Given the description of an element on the screen output the (x, y) to click on. 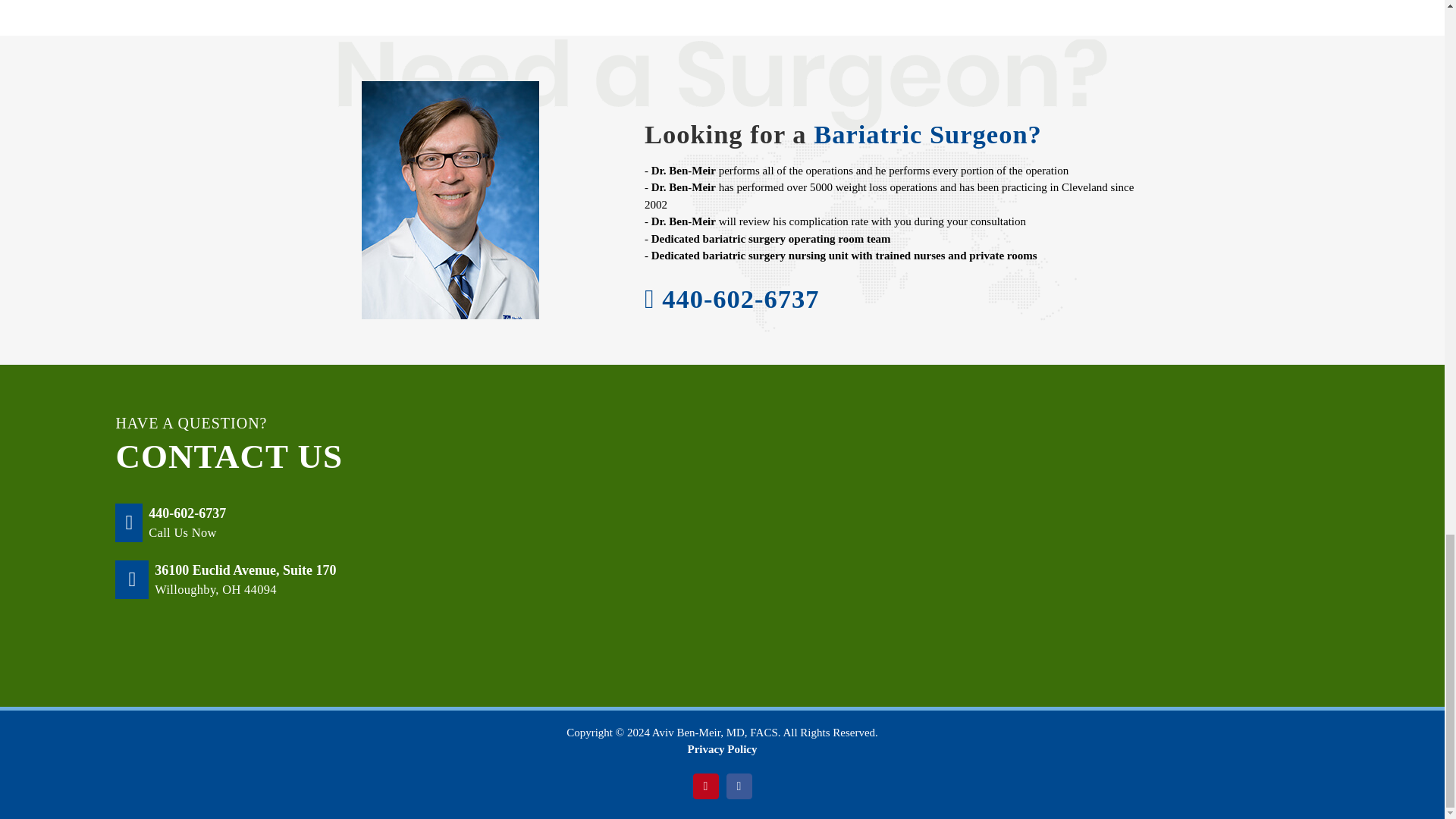
Pinterest (706, 786)
Privacy Policy (722, 748)
Facebook (739, 786)
440-602-6737 (186, 513)
Privacy Policy (722, 748)
Facebook (739, 786)
Pinterest (706, 786)
440-602-6737 (740, 298)
